Given the description of an element on the screen output the (x, y) to click on. 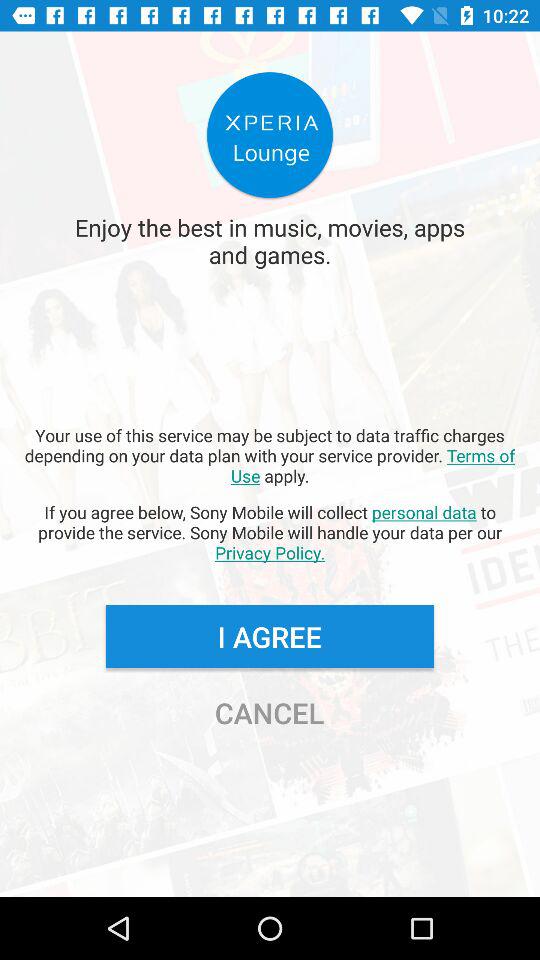
press the i agree button (269, 636)
